Given the description of an element on the screen output the (x, y) to click on. 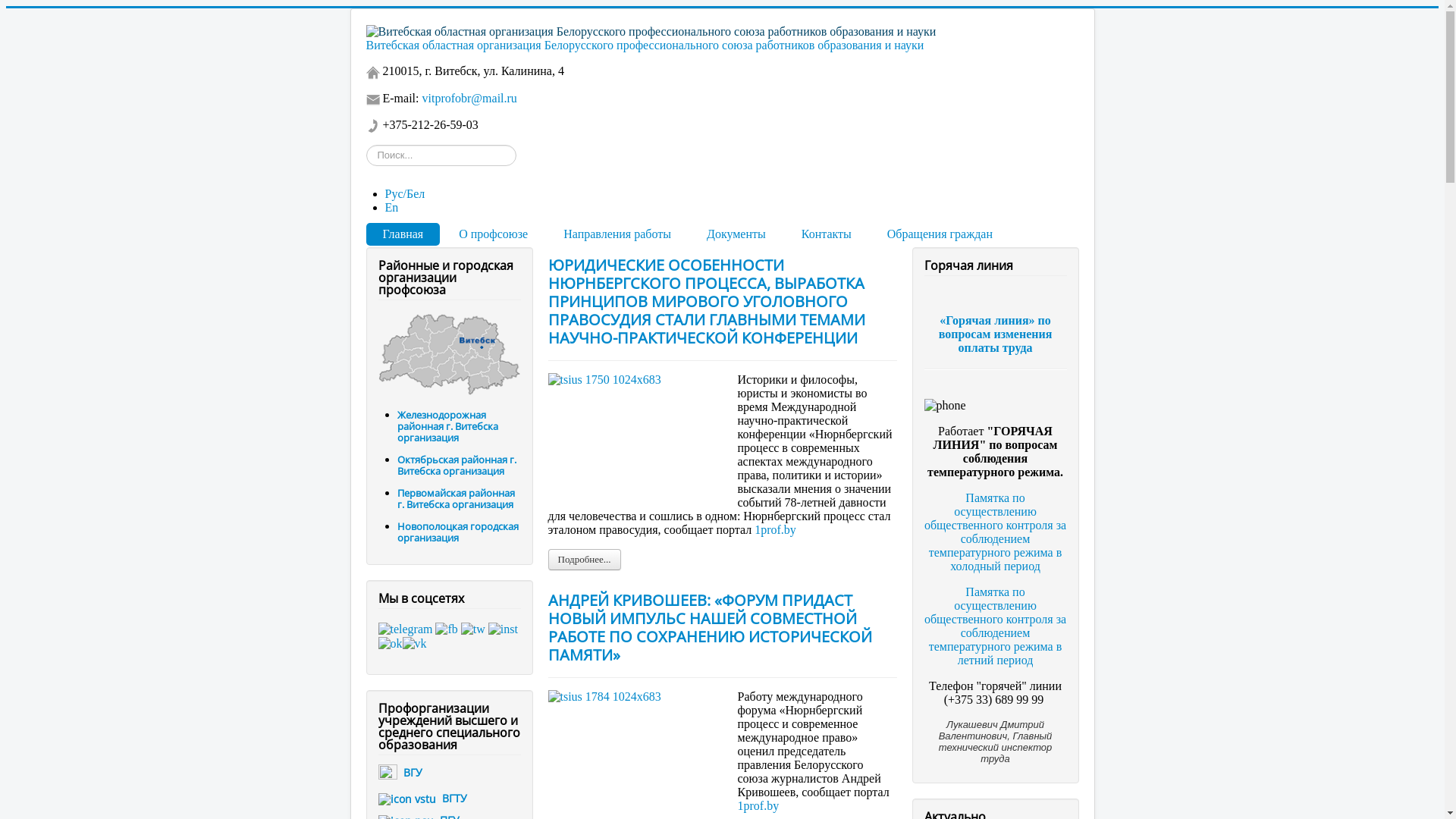
1prof.by Element type: text (757, 805)
vitprofobr@mail.ru Element type: text (468, 97)
1prof.by Element type: text (775, 529)
En Element type: text (391, 206)
